Given the description of an element on the screen output the (x, y) to click on. 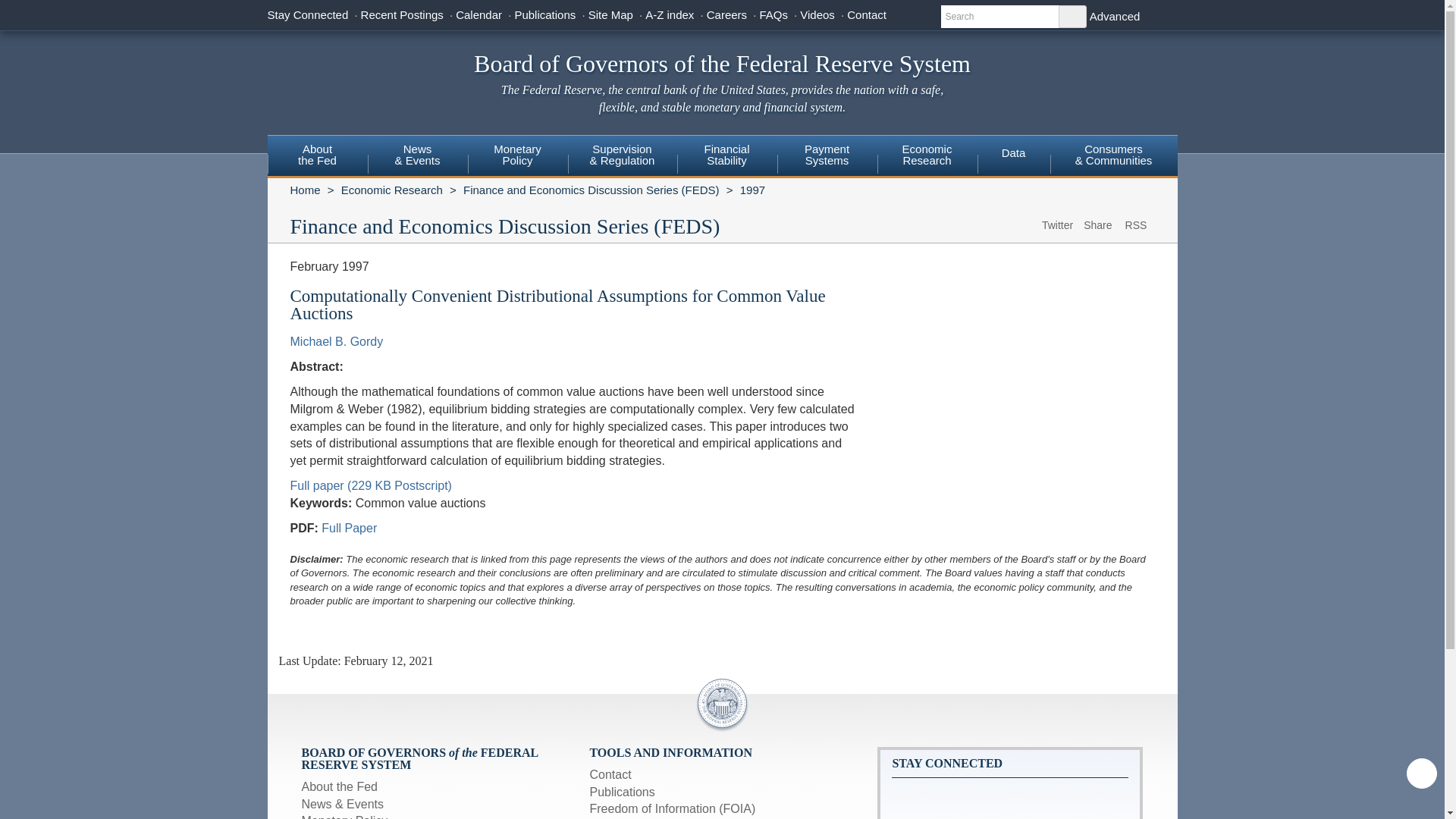
Videos (816, 14)
A-Z index (669, 14)
Advanced (1114, 15)
Publications (544, 14)
Recent Postings (402, 14)
Careers (726, 14)
Scroll To Top (1421, 773)
Submit Search Button (1072, 15)
Site Map (316, 154)
FAQs (610, 14)
Contact (772, 14)
Calendar (866, 14)
